Given the description of an element on the screen output the (x, y) to click on. 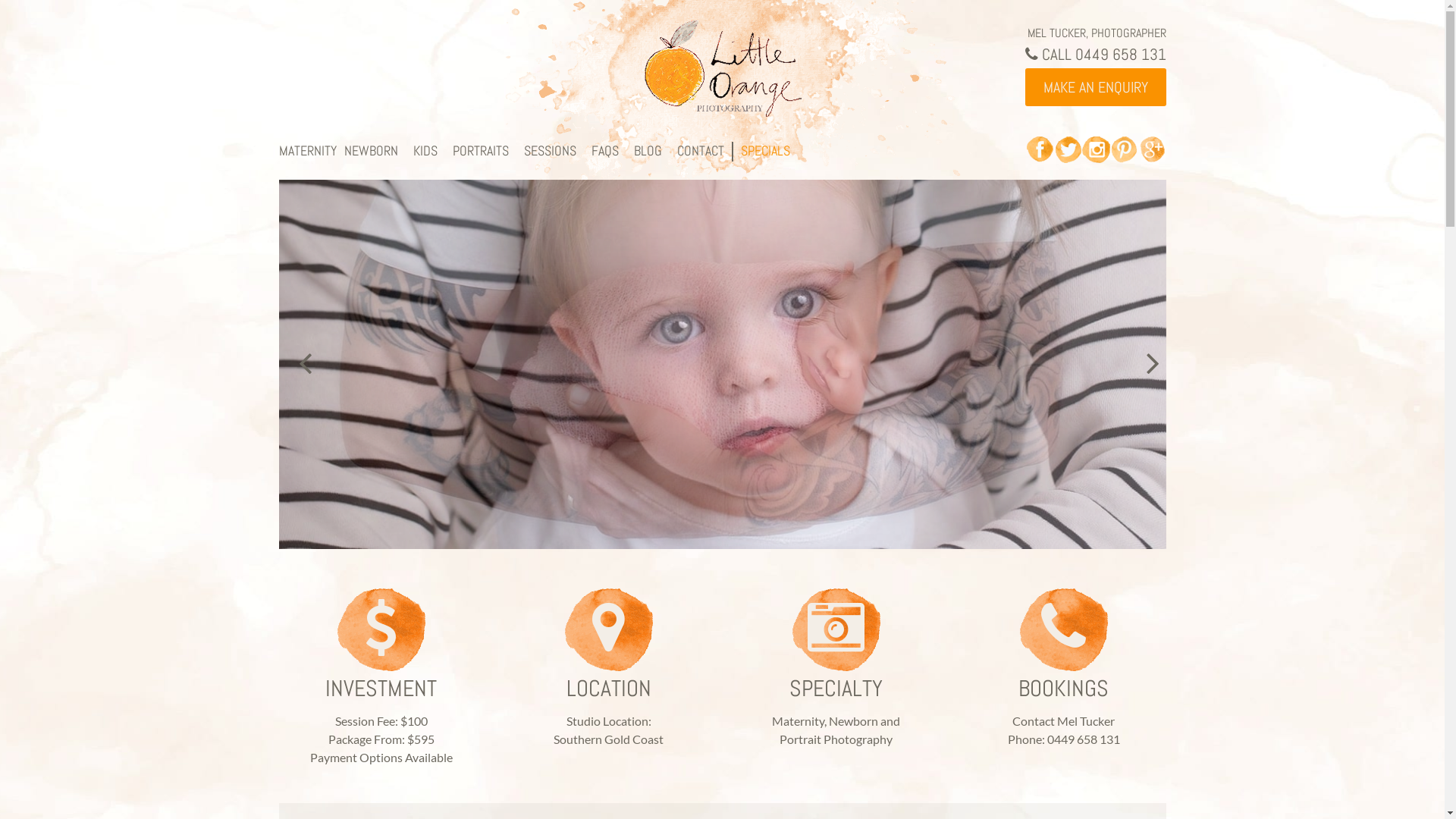
SESSIONS Element type: text (549, 150)
KIDS Element type: text (424, 150)
NEWBORN Element type: text (371, 150)
FAQS Element type: text (604, 150)
NEXT Element type: text (1146, 363)
MAKE AN ENQUIRY Element type: text (1095, 87)
SPECIALS Element type: text (764, 150)
PORTRAITS Element type: text (479, 150)
0449 658 131 Element type: text (1120, 53)
PREVIOUS Element type: text (298, 363)
CALL Element type: text (1050, 53)
CONTACT Element type: text (699, 150)
BLOG Element type: text (647, 150)
MATERNITY Element type: text (307, 150)
Little Orange Photography Element type: hover (721, 66)
